Given the description of an element on the screen output the (x, y) to click on. 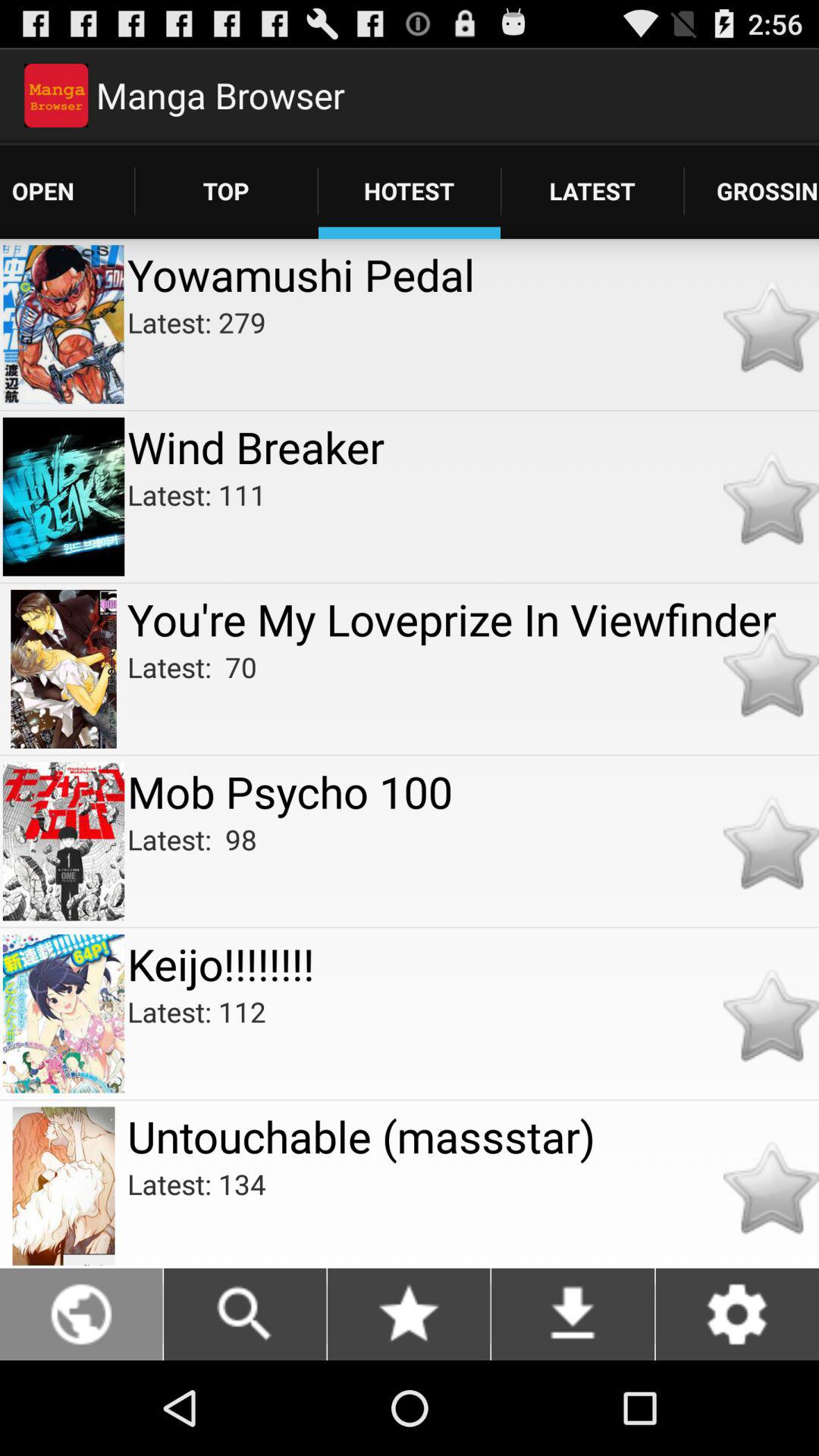
launch keijo!!!!!!!! app (473, 963)
